Given the description of an element on the screen output the (x, y) to click on. 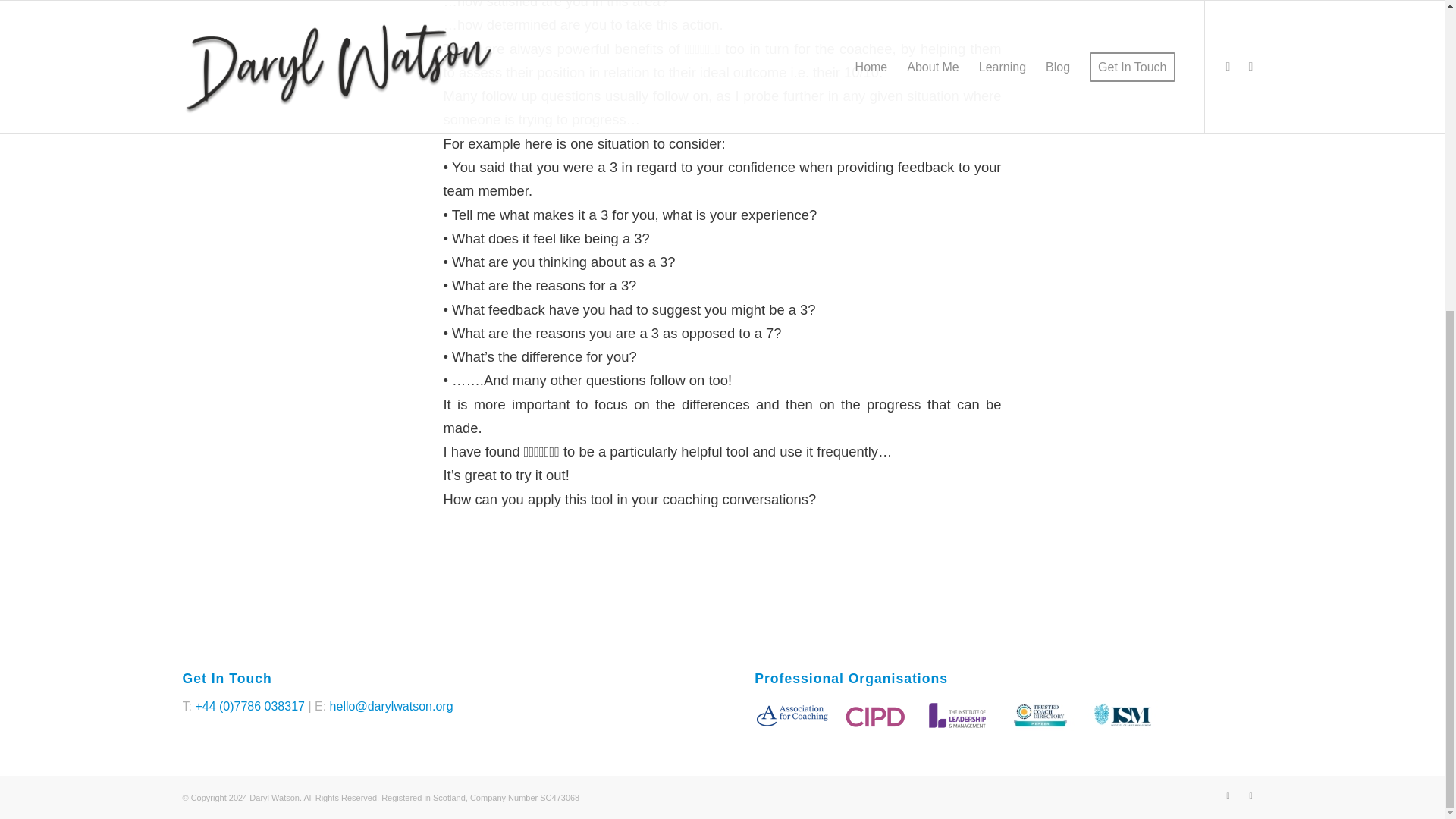
Twitter (1227, 794)
LinkedIn (1250, 794)
